Given the description of an element on the screen output the (x, y) to click on. 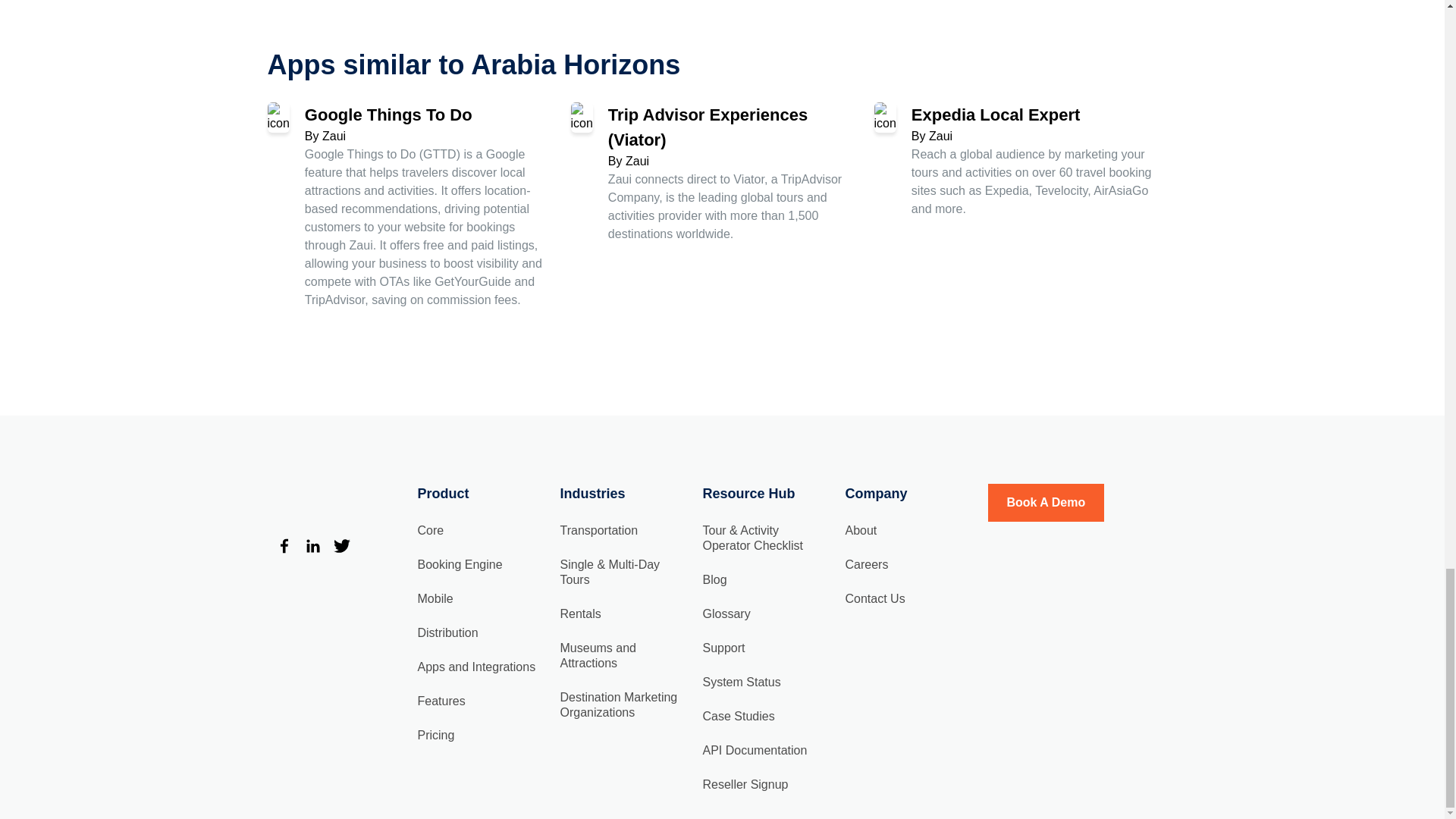
Pricing (435, 735)
Support (722, 647)
Booking Engine (459, 563)
Mobile (434, 598)
Transportation (598, 530)
Google Things To Do (387, 114)
Rentals (579, 613)
Museums and Attractions (597, 655)
Features (440, 700)
Blog (713, 579)
